Given the description of an element on the screen output the (x, y) to click on. 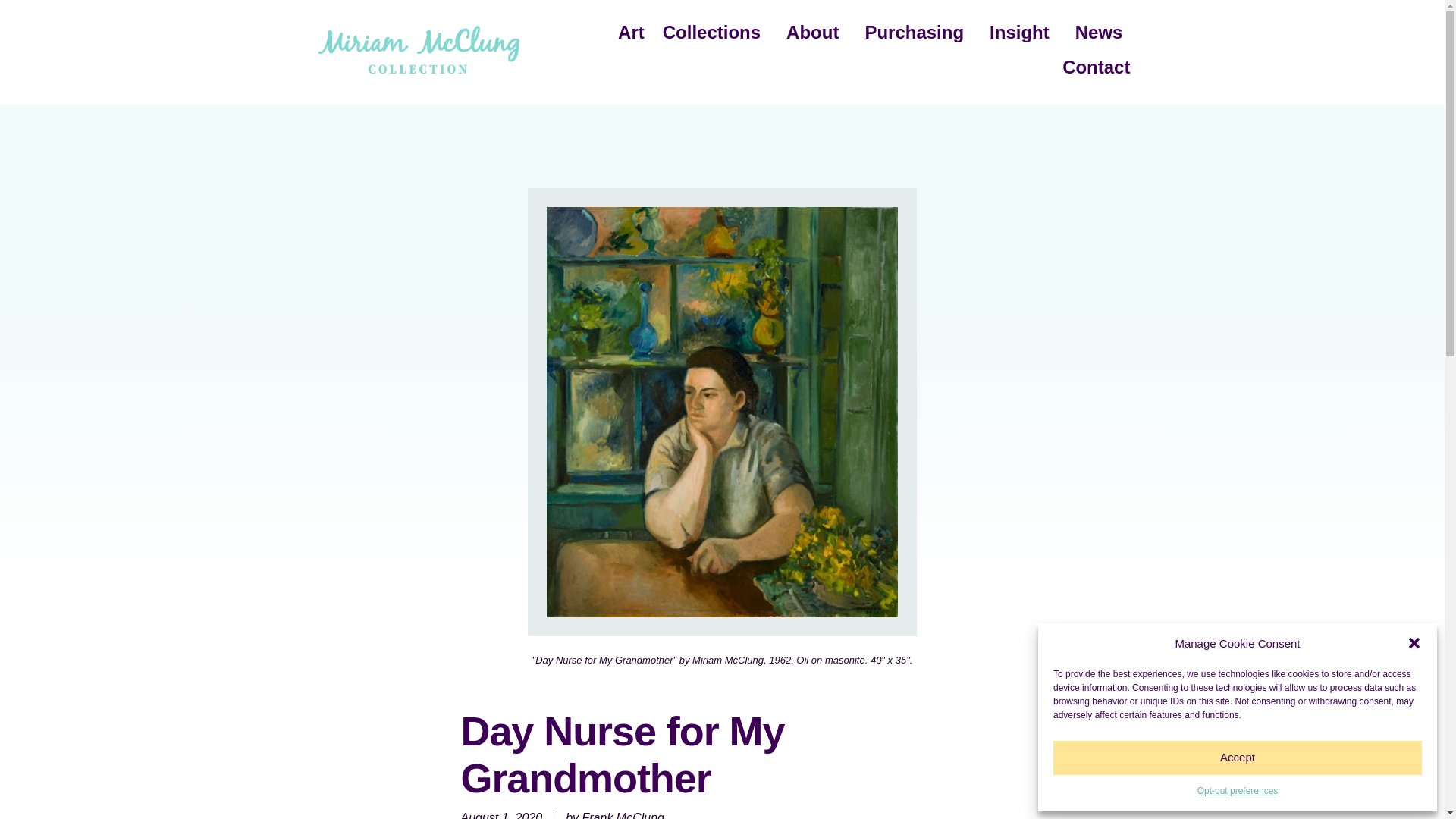
Accept (1237, 757)
Art (630, 32)
About (816, 32)
Purchasing (917, 32)
Collections (715, 32)
Opt-out preferences (1237, 791)
